Given the description of an element on the screen output the (x, y) to click on. 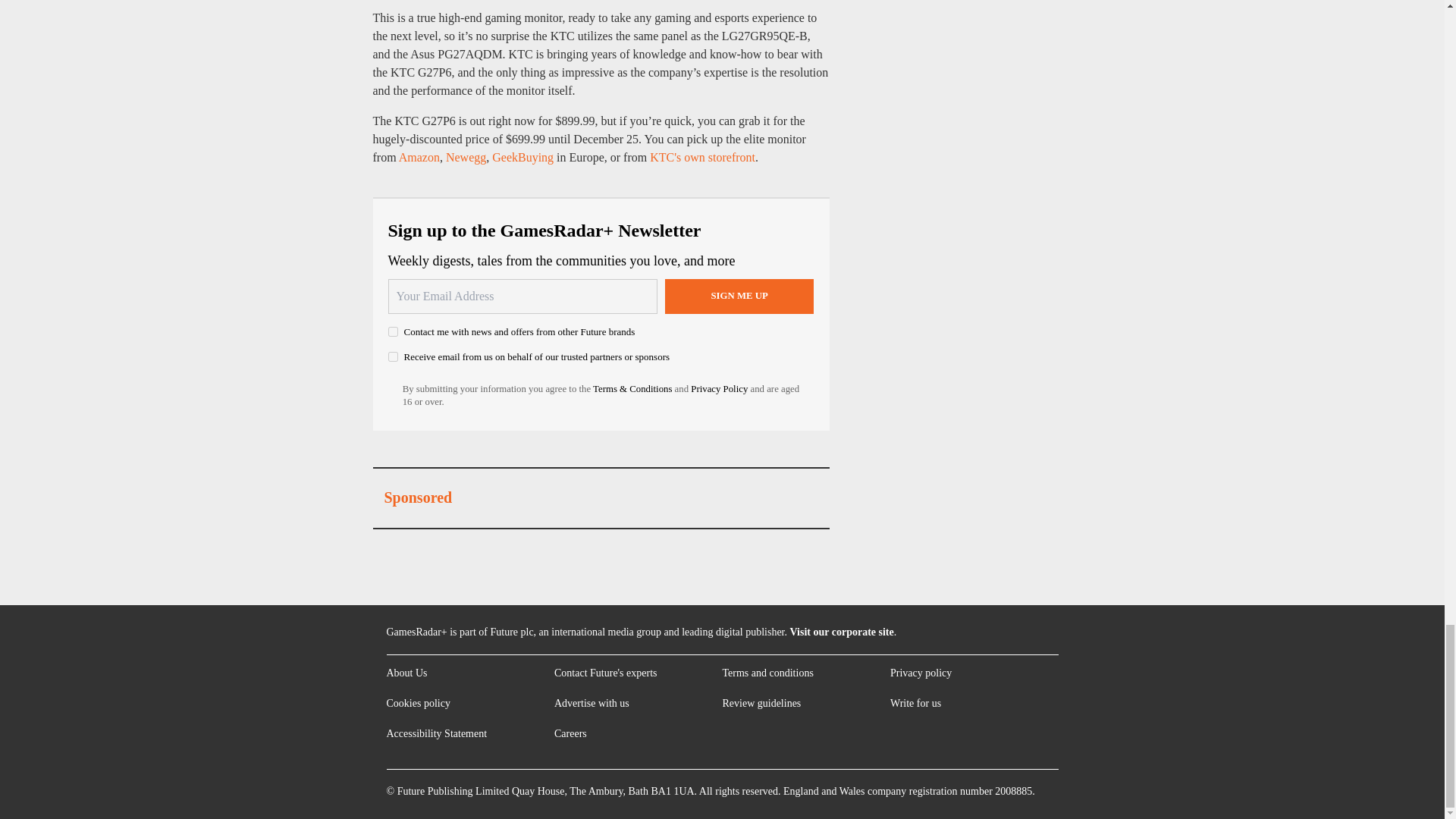
on (392, 331)
on (392, 356)
Sign me up (739, 296)
